Given the description of an element on the screen output the (x, y) to click on. 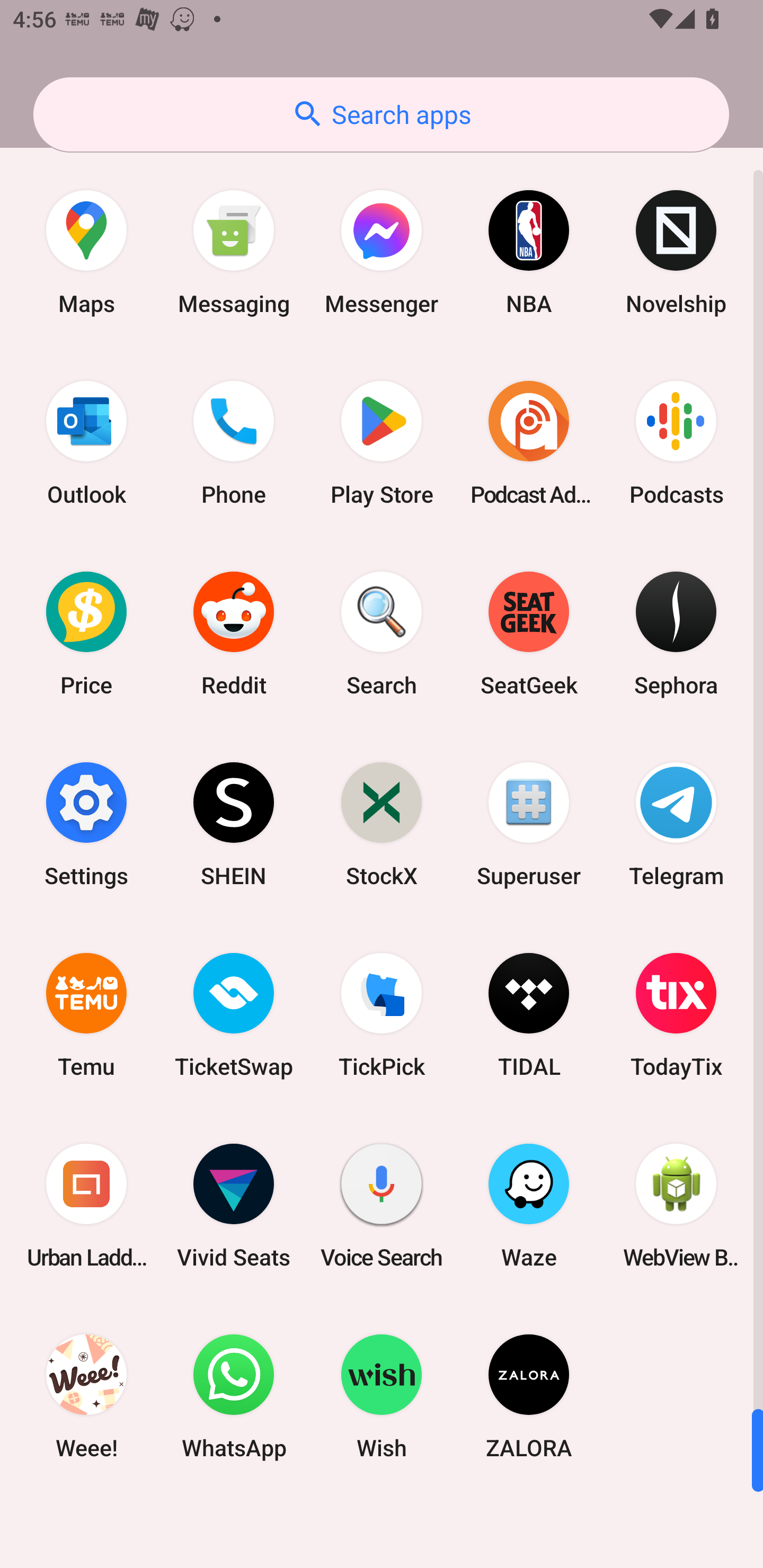
  Search apps (381, 114)
Maps (86, 252)
Messaging (233, 252)
Messenger (381, 252)
NBA (528, 252)
Novelship (676, 252)
Outlook (86, 442)
Phone (233, 442)
Play Store (381, 442)
Podcast Addict (528, 442)
Podcasts (676, 442)
Price (86, 633)
Reddit (233, 633)
Search (381, 633)
SeatGeek (528, 633)
Sephora (676, 633)
Settings (86, 823)
SHEIN (233, 823)
StockX (381, 823)
Superuser (528, 823)
Telegram (676, 823)
Temu (86, 1014)
TicketSwap (233, 1014)
TickPick (381, 1014)
TIDAL (528, 1014)
TodayTix (676, 1014)
Urban Ladder (86, 1205)
Vivid Seats (233, 1205)
Voice Search (381, 1205)
Waze (528, 1205)
WebView Browser Tester (676, 1205)
Weee! (86, 1396)
WhatsApp (233, 1396)
Wish (381, 1396)
ZALORA (528, 1396)
